Given the description of an element on the screen output the (x, y) to click on. 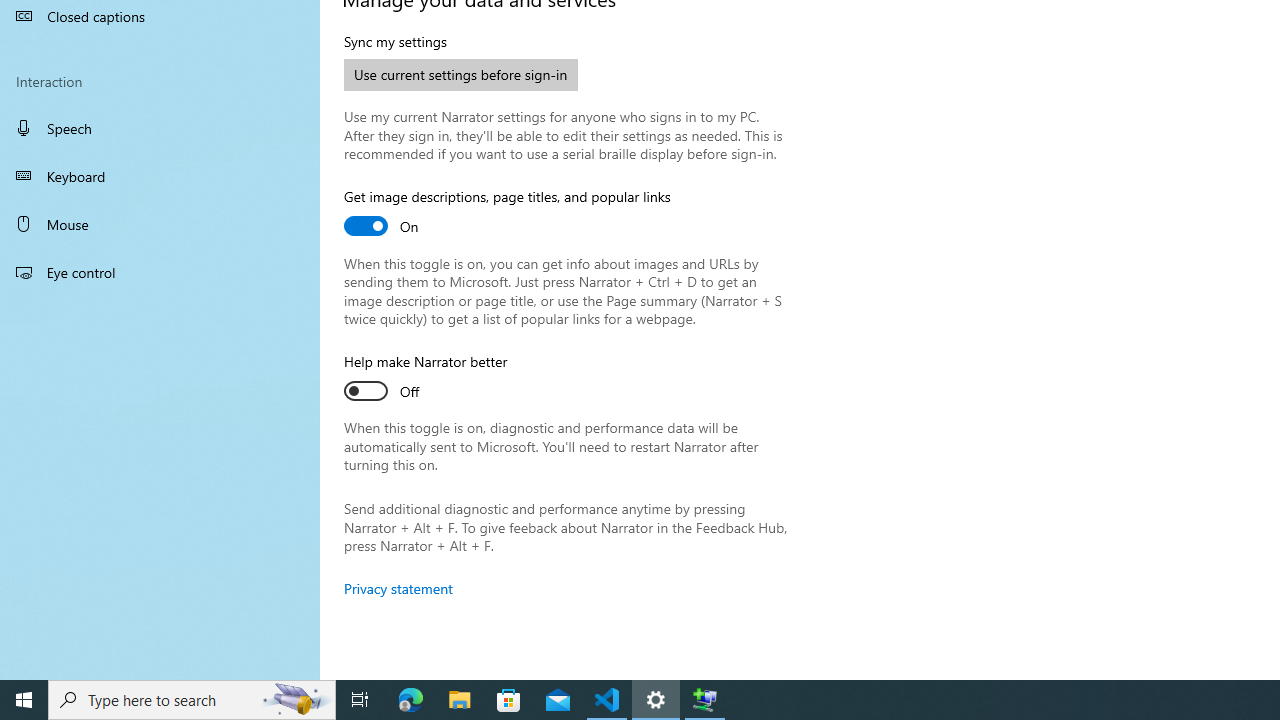
Extensible Wizards Host Process - 1 running window (704, 699)
Privacy statement (398, 588)
